Given the description of an element on the screen output the (x, y) to click on. 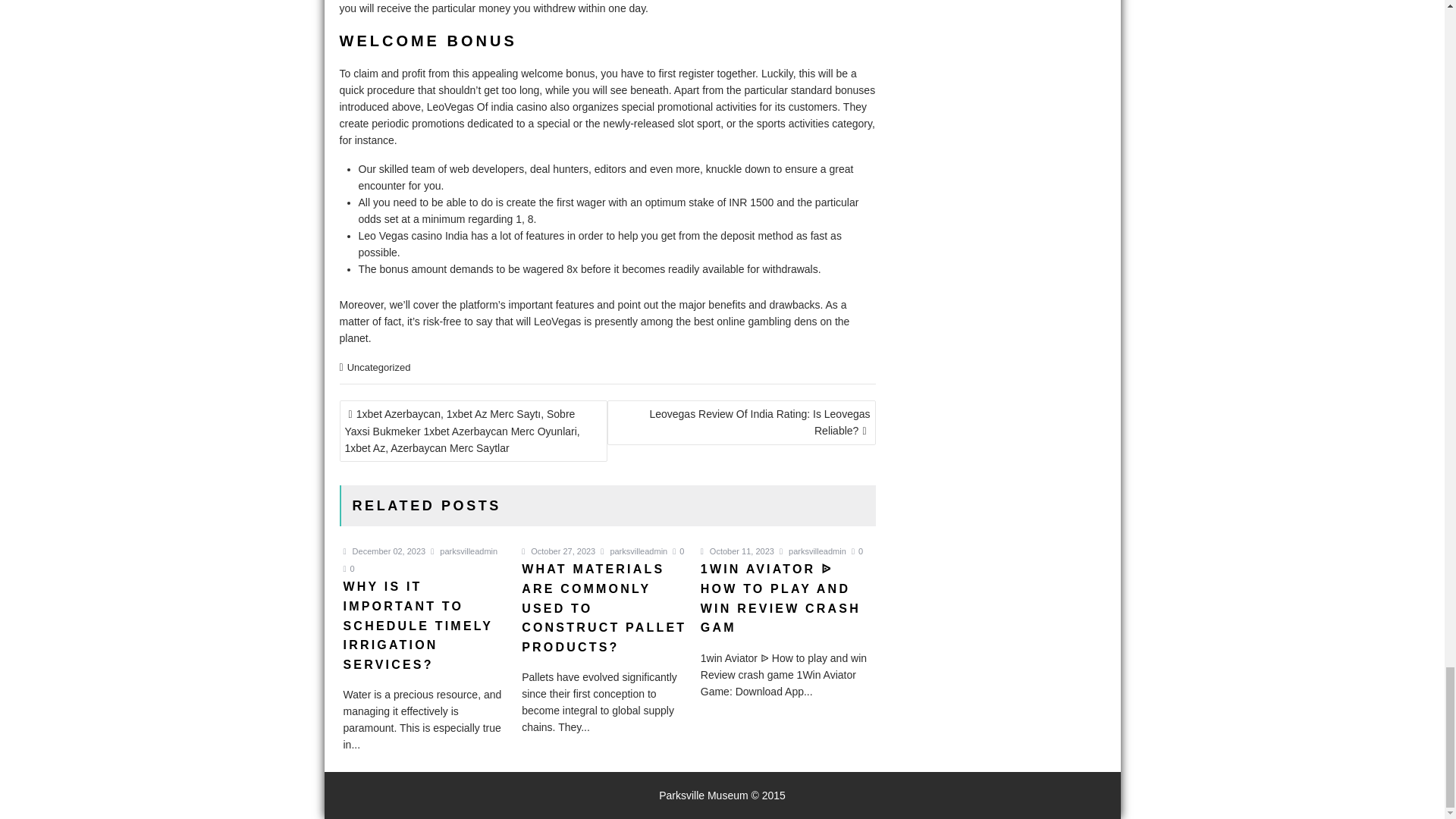
parksvilleadmin (463, 551)
parksvilleadmin (811, 551)
parksvilleadmin (632, 551)
